Given the description of an element on the screen output the (x, y) to click on. 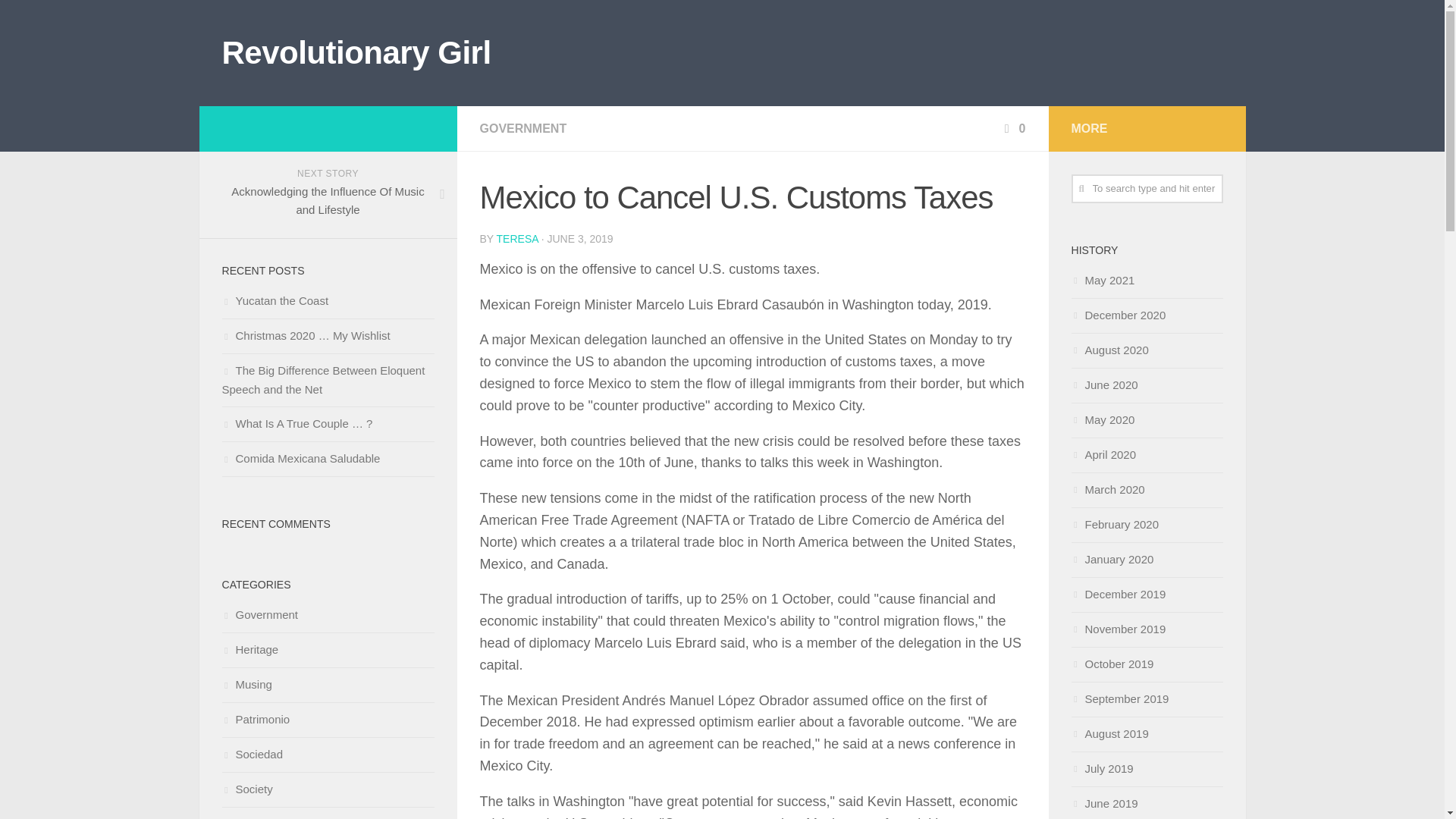
Posts by Teresa (517, 238)
December 2020 (1118, 314)
Revolutionary Girl (355, 53)
Society (246, 788)
GOVERNMENT (522, 128)
Patrimonio (255, 718)
February 2020 (1114, 523)
The Big Difference Between Eloquent Speech and the Net (323, 379)
April 2020 (1102, 454)
May 2020 (1102, 419)
June 2020 (1103, 384)
November 2019 (1118, 628)
December 2019 (1118, 594)
TERESA (517, 238)
January 2020 (1111, 558)
